Given the description of an element on the screen output the (x, y) to click on. 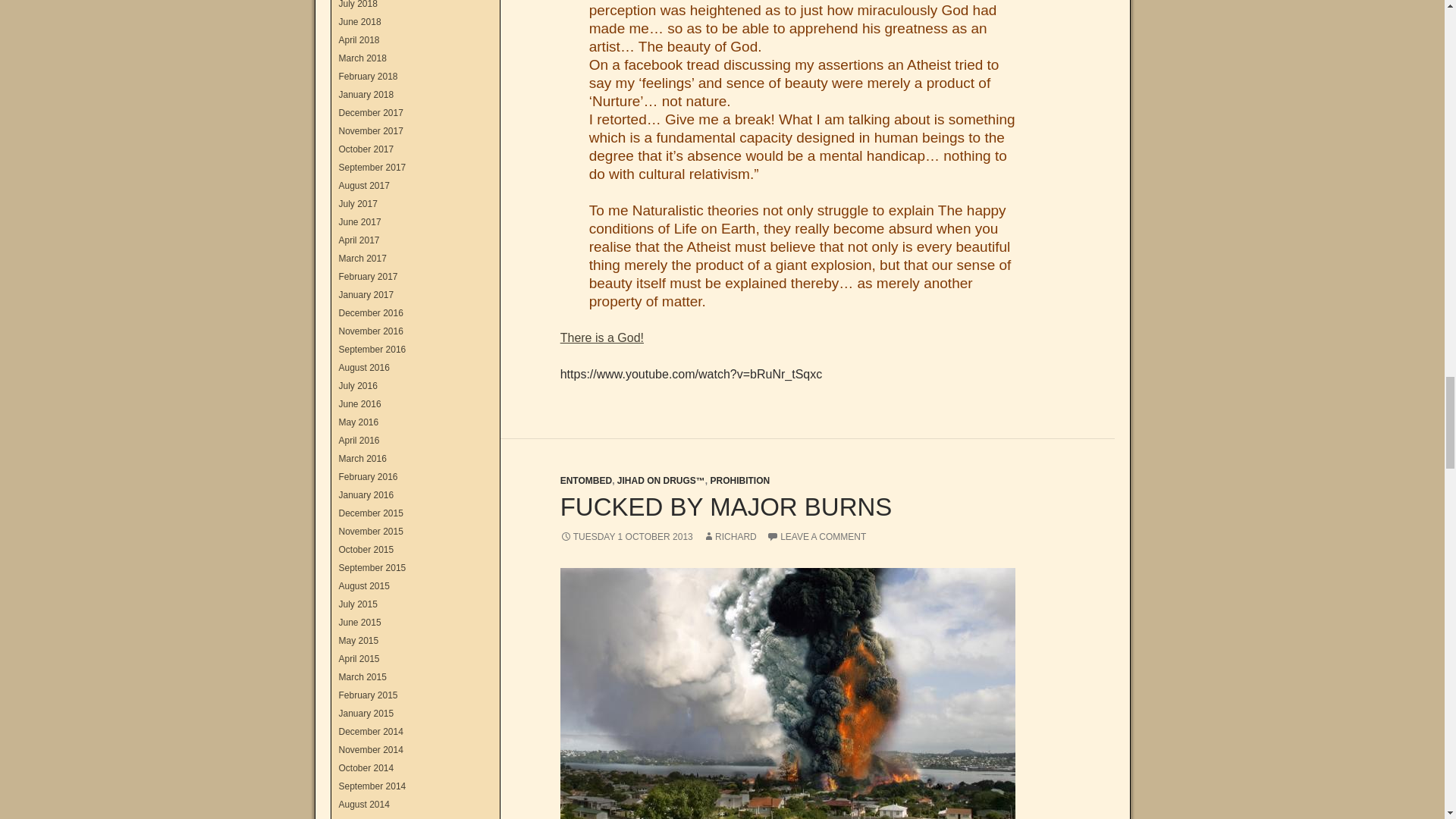
RICHARD (730, 536)
FUCKED BY MAJOR BURNS (726, 506)
ENTOMBED (585, 480)
There is a God! (601, 337)
LEAVE A COMMENT (816, 536)
TUESDAY 1 OCTOBER 2013 (626, 536)
PROHIBITION (740, 480)
